Given the description of an element on the screen output the (x, y) to click on. 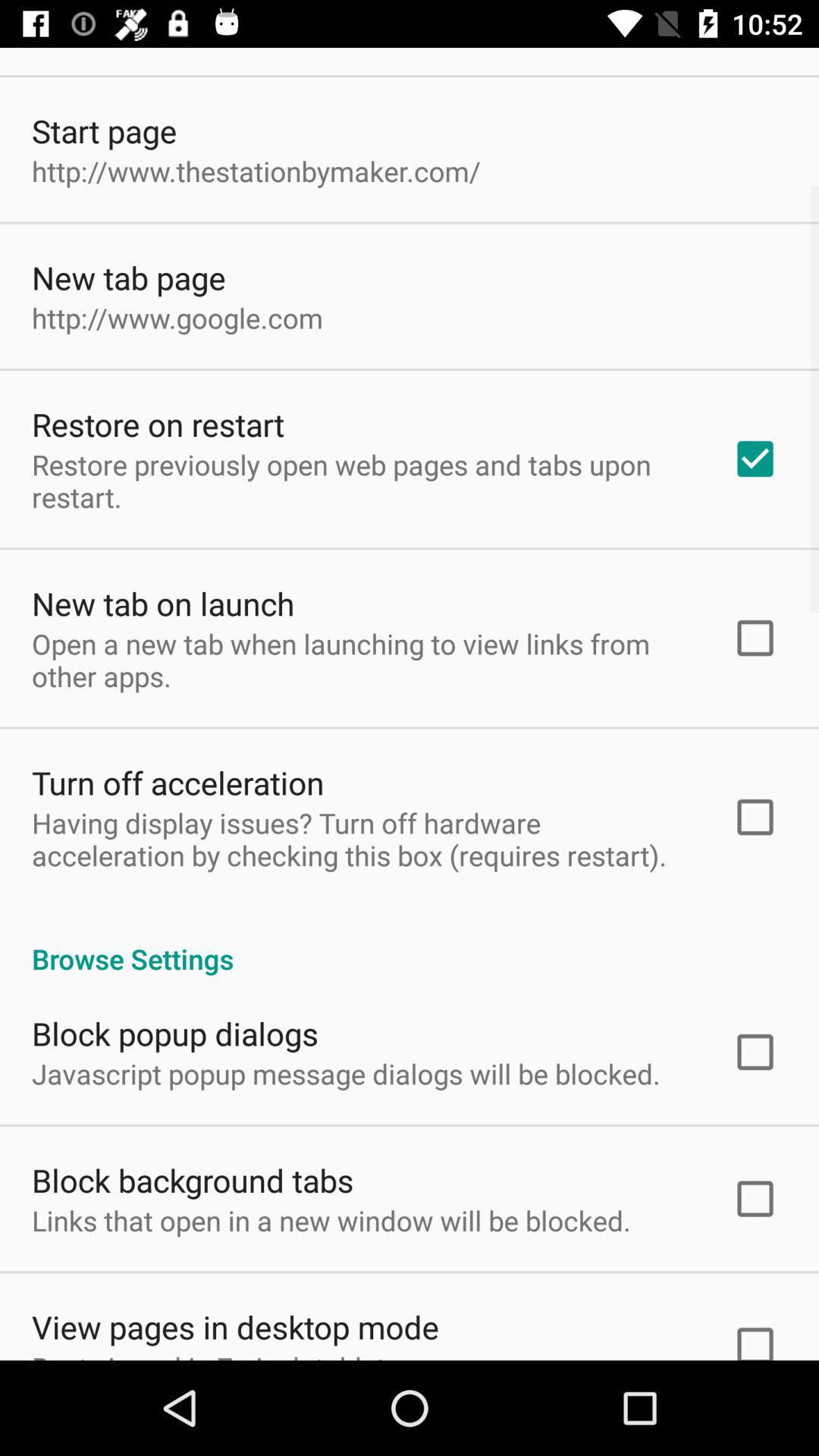
scroll to the having display issues app (361, 839)
